Given the description of an element on the screen output the (x, y) to click on. 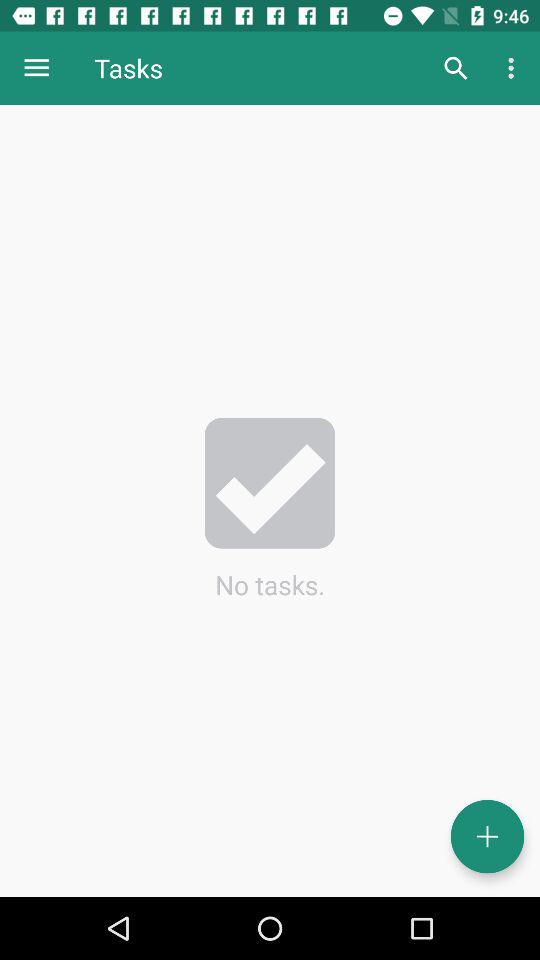
choose icon below the no tasks. (487, 836)
